Given the description of an element on the screen output the (x, y) to click on. 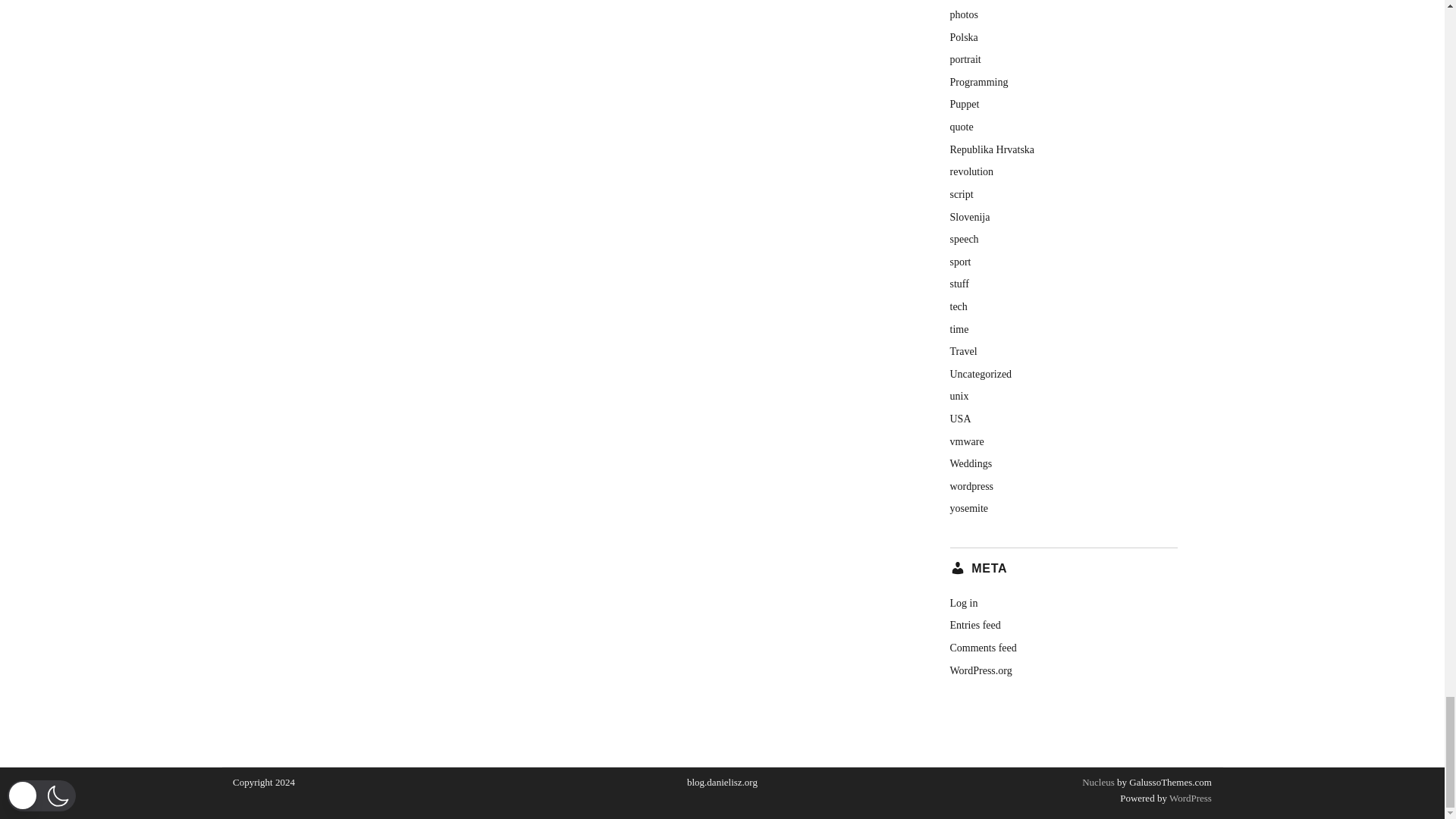
Semantic Personal Publishing Platform (1189, 797)
